Given the description of an element on the screen output the (x, y) to click on. 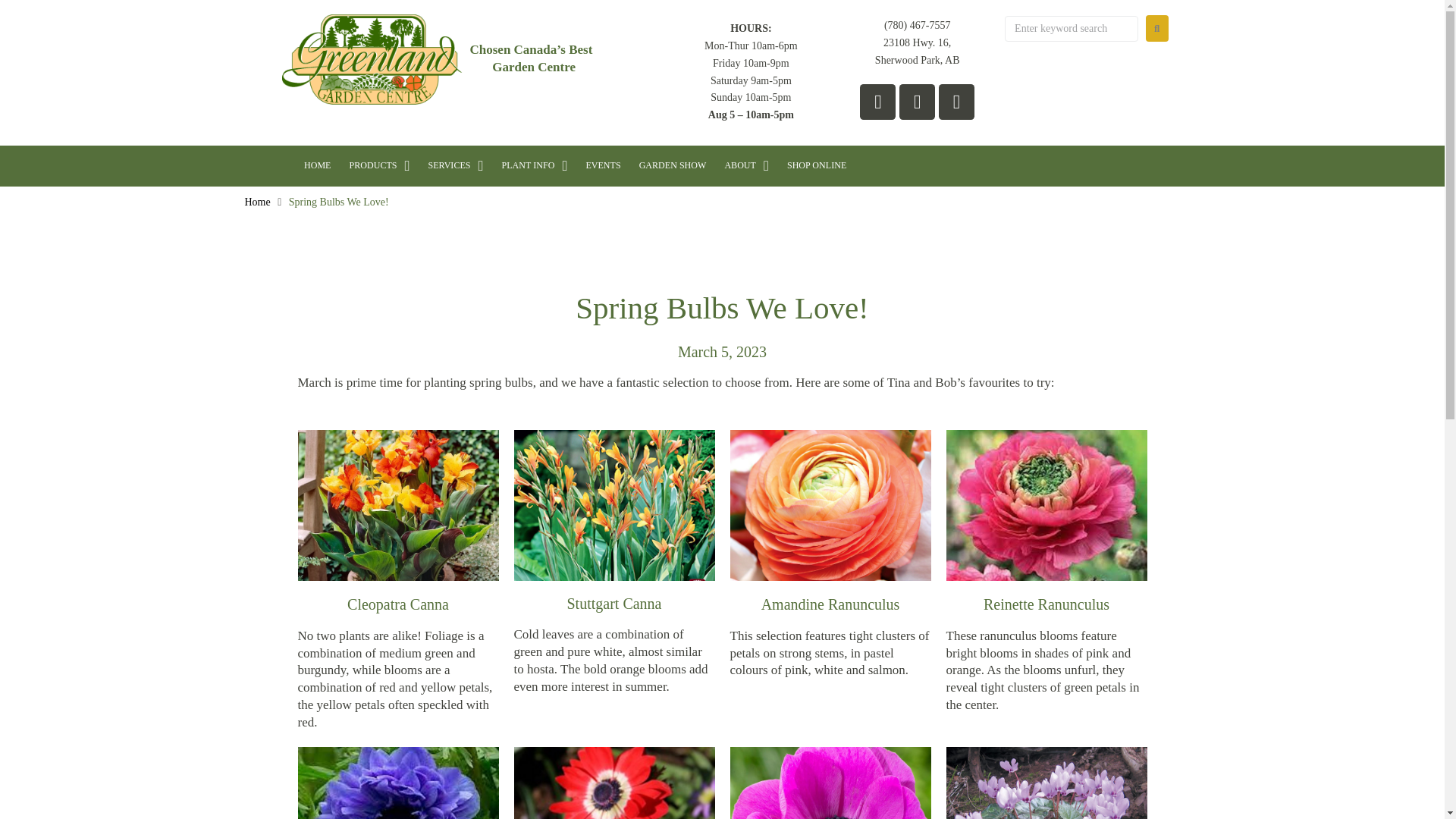
ABOUT (746, 166)
HOME (318, 166)
SHOP ONLINE (815, 166)
EVENTS (602, 166)
Home (256, 202)
GARDEN SHOW (672, 166)
PLANT INFO (535, 166)
SERVICES (455, 166)
PRODUCTS (378, 166)
